Given the description of an element on the screen output the (x, y) to click on. 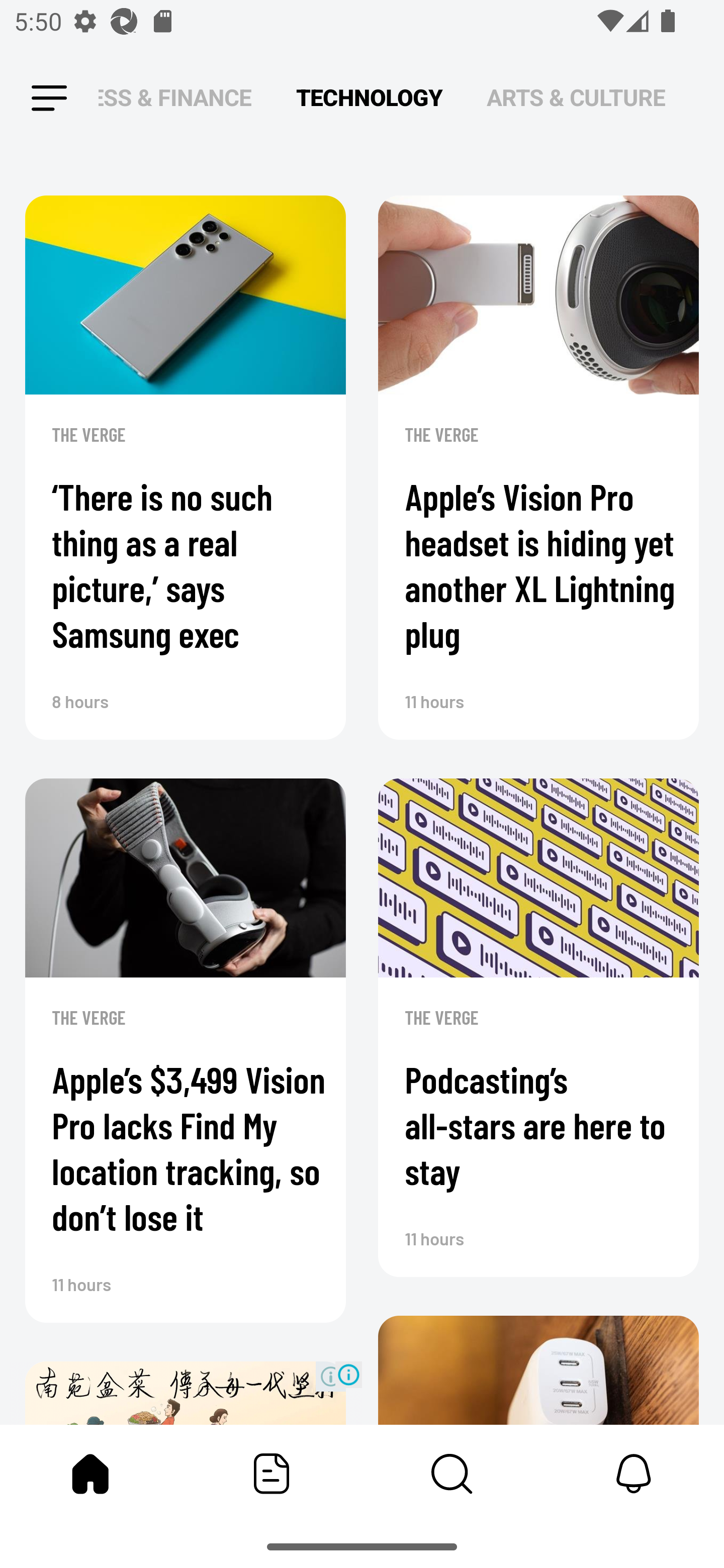
Leading Icon (49, 98)
BUSINESS & FINANCE (174, 97)
ARTS & CULTURE (575, 97)
Ad Choices Icon (348, 1374)
Featured (271, 1473)
Content Store (452, 1473)
Notifications (633, 1473)
